Given the description of an element on the screen output the (x, y) to click on. 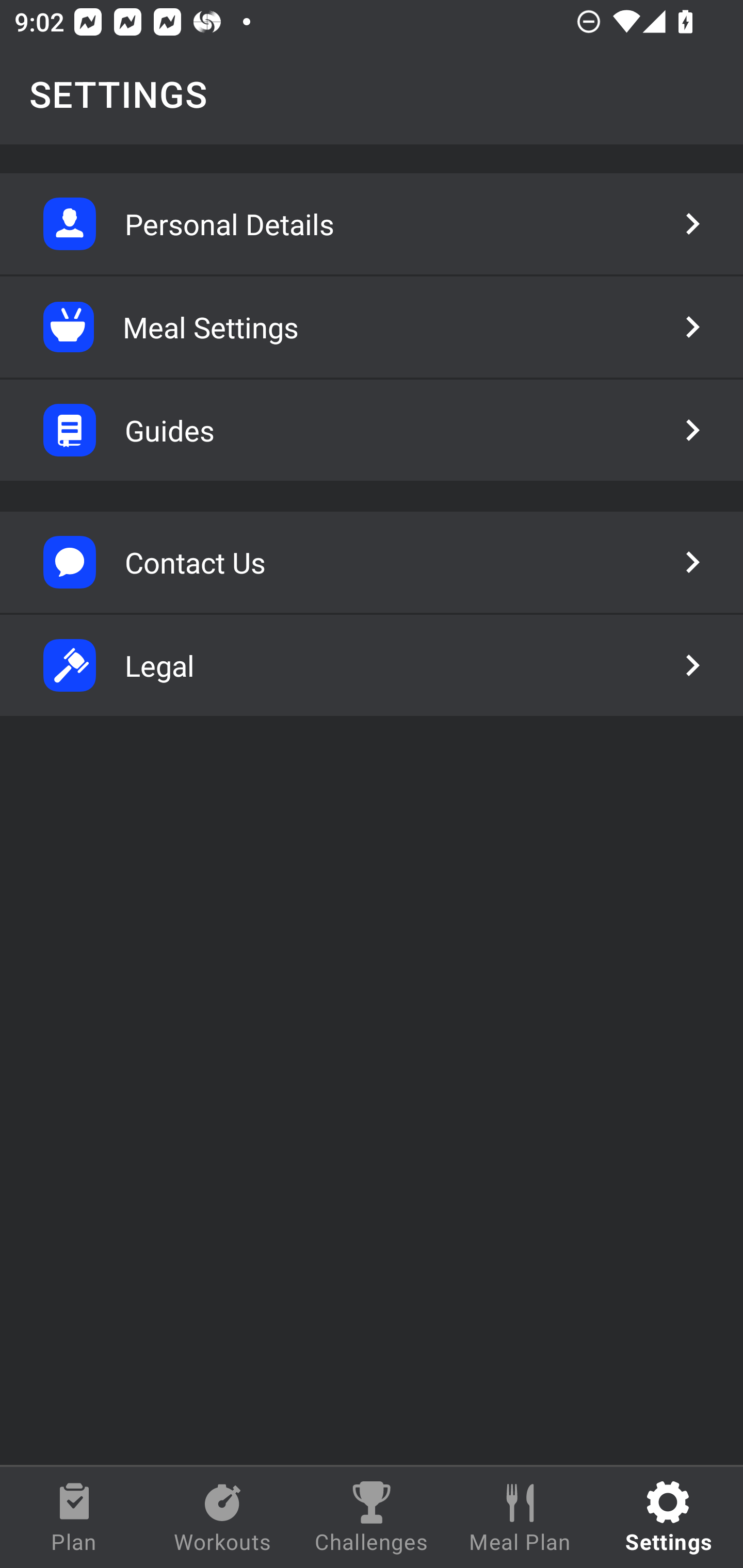
Personal Details (371, 224)
Meal Settings (371, 326)
Guides (371, 430)
Contact Us (371, 562)
Legal (371, 665)
 Plan  (74, 1517)
 Workouts  (222, 1517)
 Challenges  (371, 1517)
 Meal Plan  (519, 1517)
